Given the description of an element on the screen output the (x, y) to click on. 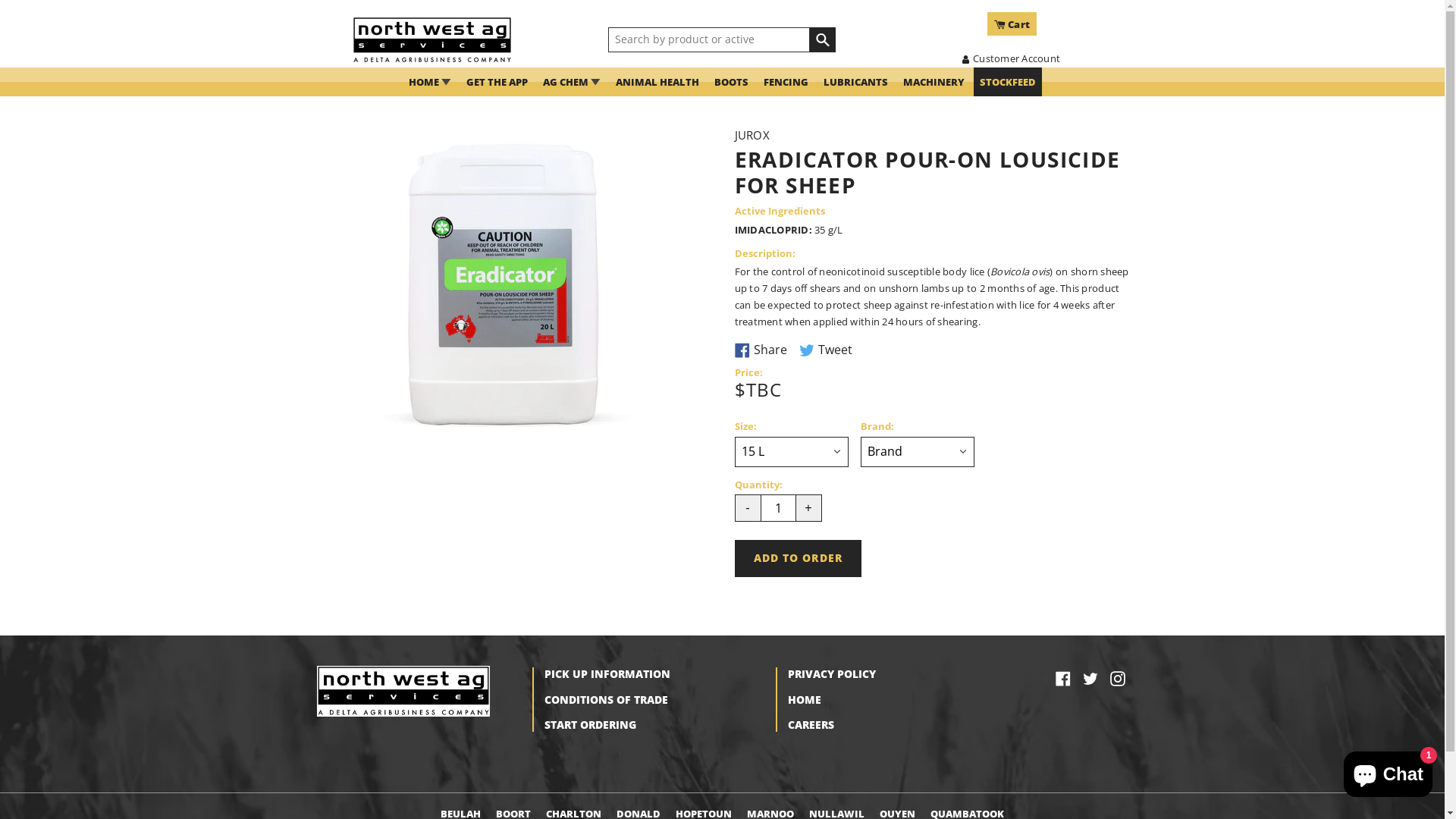
AG CHEM
TRANSLATION MISSING: EN.LAYOUT.NAVIGATION.EXPAND Element type: text (571, 81)
Shopify online store chat Element type: hover (1388, 771)
Facebook Element type: text (1062, 676)
Instagram Element type: text (1117, 676)
Cart Element type: text (1011, 23)
LUBRICANTS Element type: text (855, 81)
FENCING Element type: text (785, 81)
MACHINERY Element type: text (933, 81)
CONDITIONS OF TRADE Element type: text (606, 699)
CAREERS Element type: text (810, 724)
Customer Account Element type: text (1010, 58)
START ORDERING Element type: text (590, 724)
+ Element type: text (807, 507)
PRIVACY POLICY Element type: text (831, 673)
HOME Element type: text (803, 699)
SEARCH Element type: text (822, 40)
- Element type: text (748, 507)
PICK UP INFORMATION Element type: text (607, 673)
STOCKFEED Element type: text (1007, 81)
HOME
TRANSLATION MISSING: EN.LAYOUT.NAVIGATION.EXPAND Element type: text (429, 81)
BOOTS Element type: text (731, 81)
Twitter Element type: text (1090, 676)
Share
Share on Facebook Element type: text (761, 349)
GET THE APP Element type: text (496, 81)
Tweet
Tweet on Twitter Element type: text (825, 349)
ADD TO ORDER Element type: text (797, 558)
ANIMAL HEALTH Element type: text (657, 81)
